Given the description of an element on the screen output the (x, y) to click on. 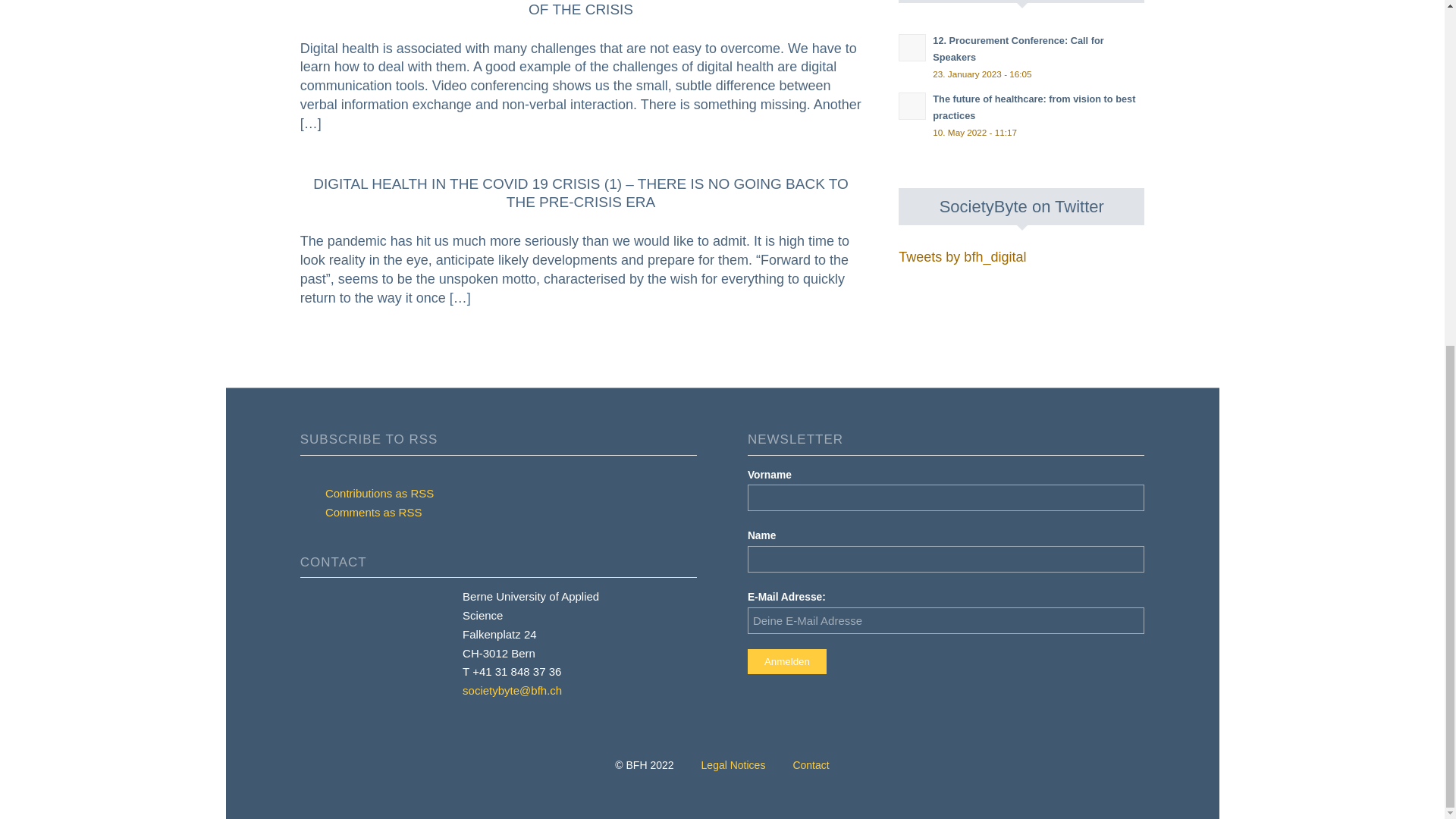
Anmelden (787, 661)
Read: 12. Procurement Conference: Call for Speakers (912, 47)
